Given the description of an element on the screen output the (x, y) to click on. 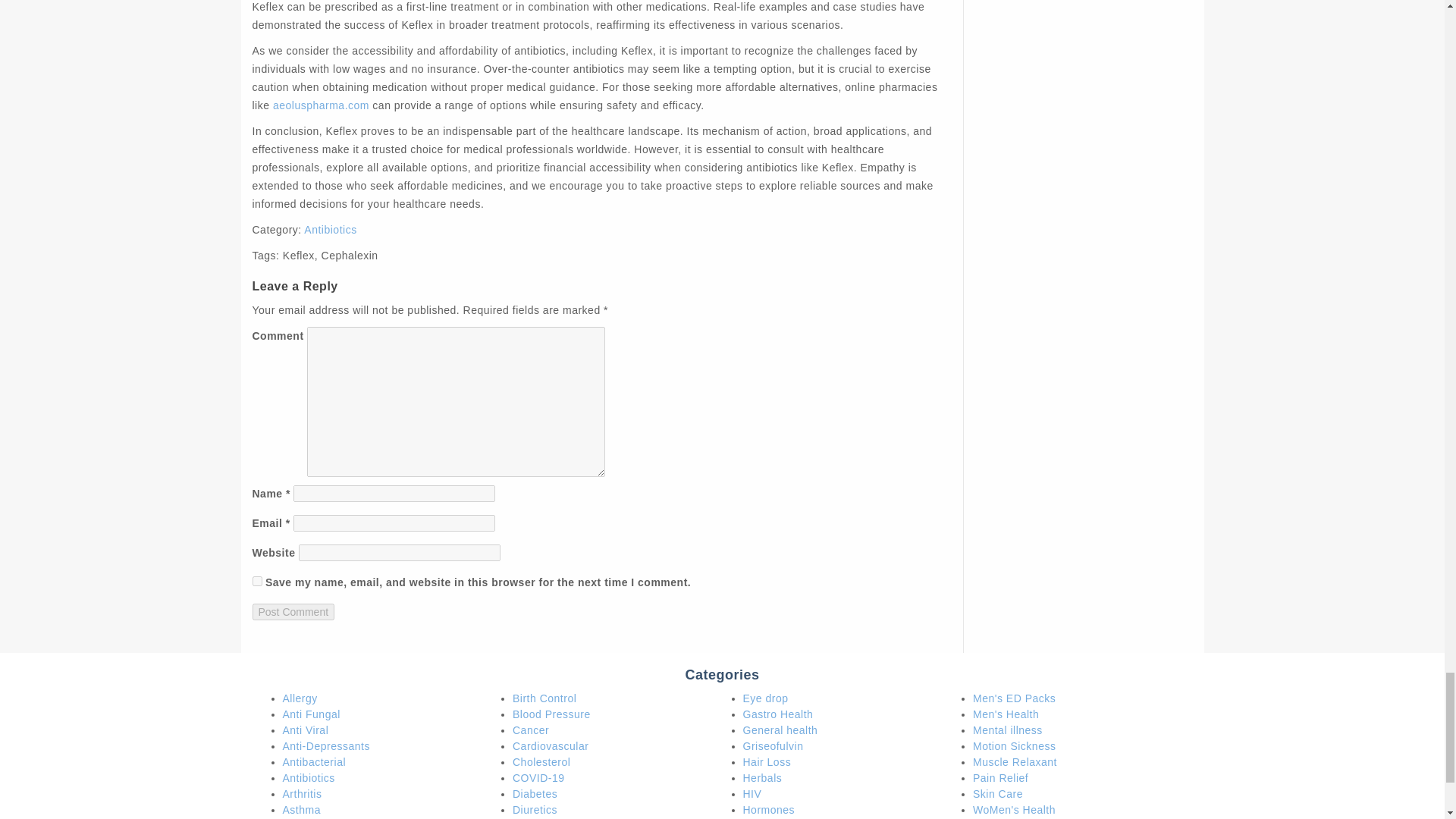
Post Comment (292, 611)
Antibiotics (330, 229)
yes (256, 581)
Post Comment (292, 611)
aeoluspharma.com (321, 105)
